Given the description of an element on the screen output the (x, y) to click on. 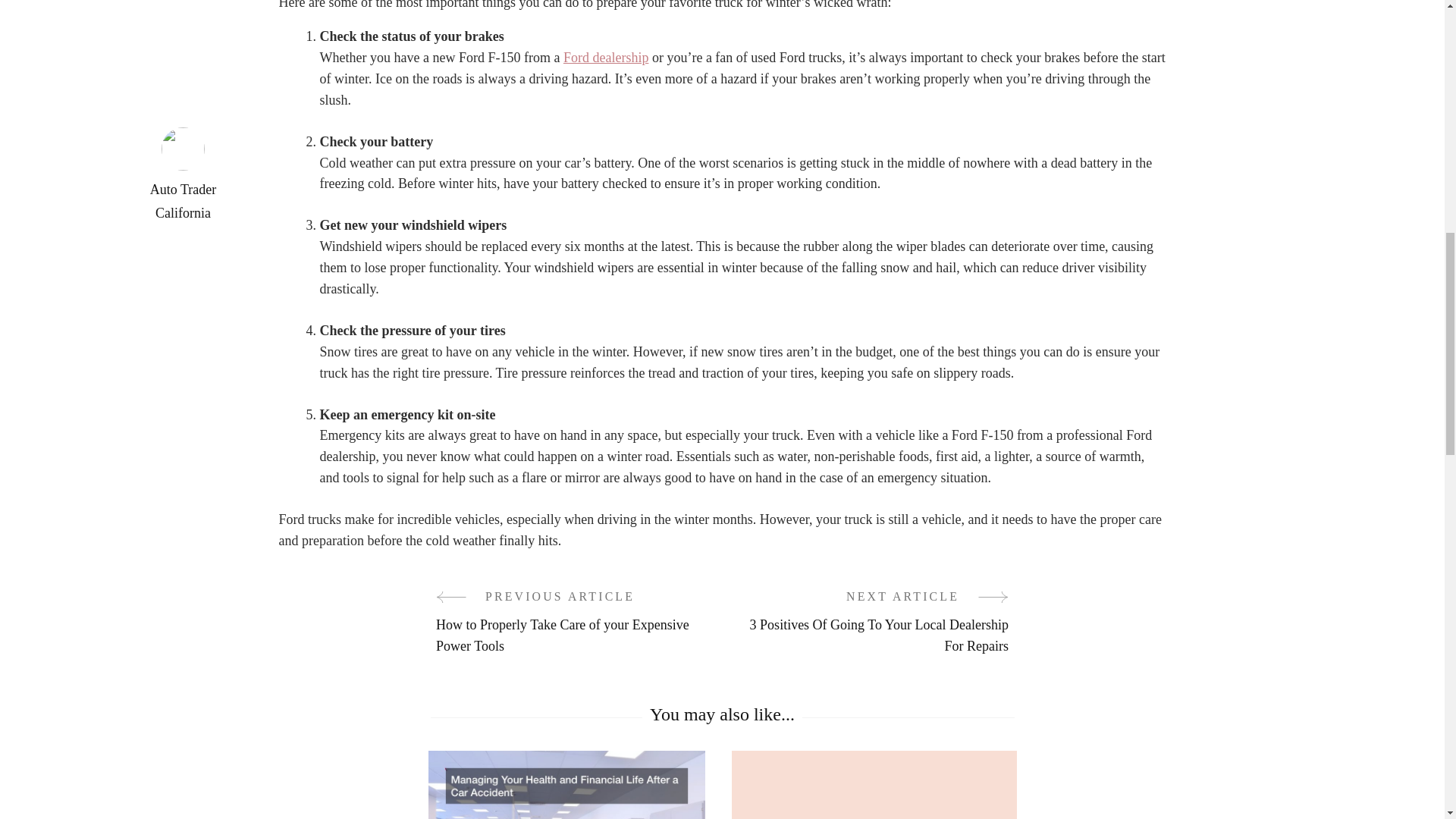
Ford dealership (605, 57)
